Given the description of an element on the screen output the (x, y) to click on. 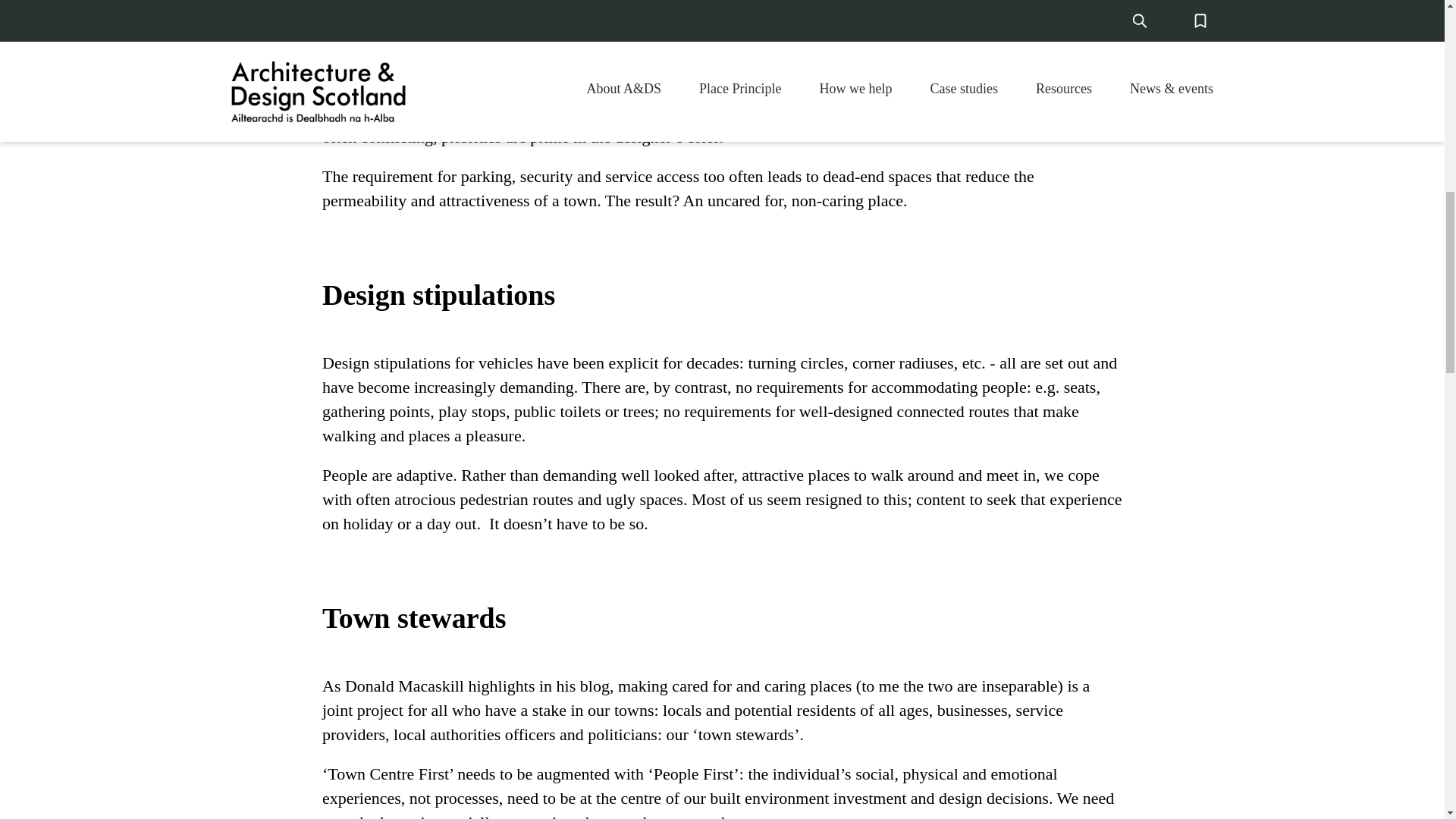
Dr. Donald Macaskill (627, 4)
